Given the description of an element on the screen output the (x, y) to click on. 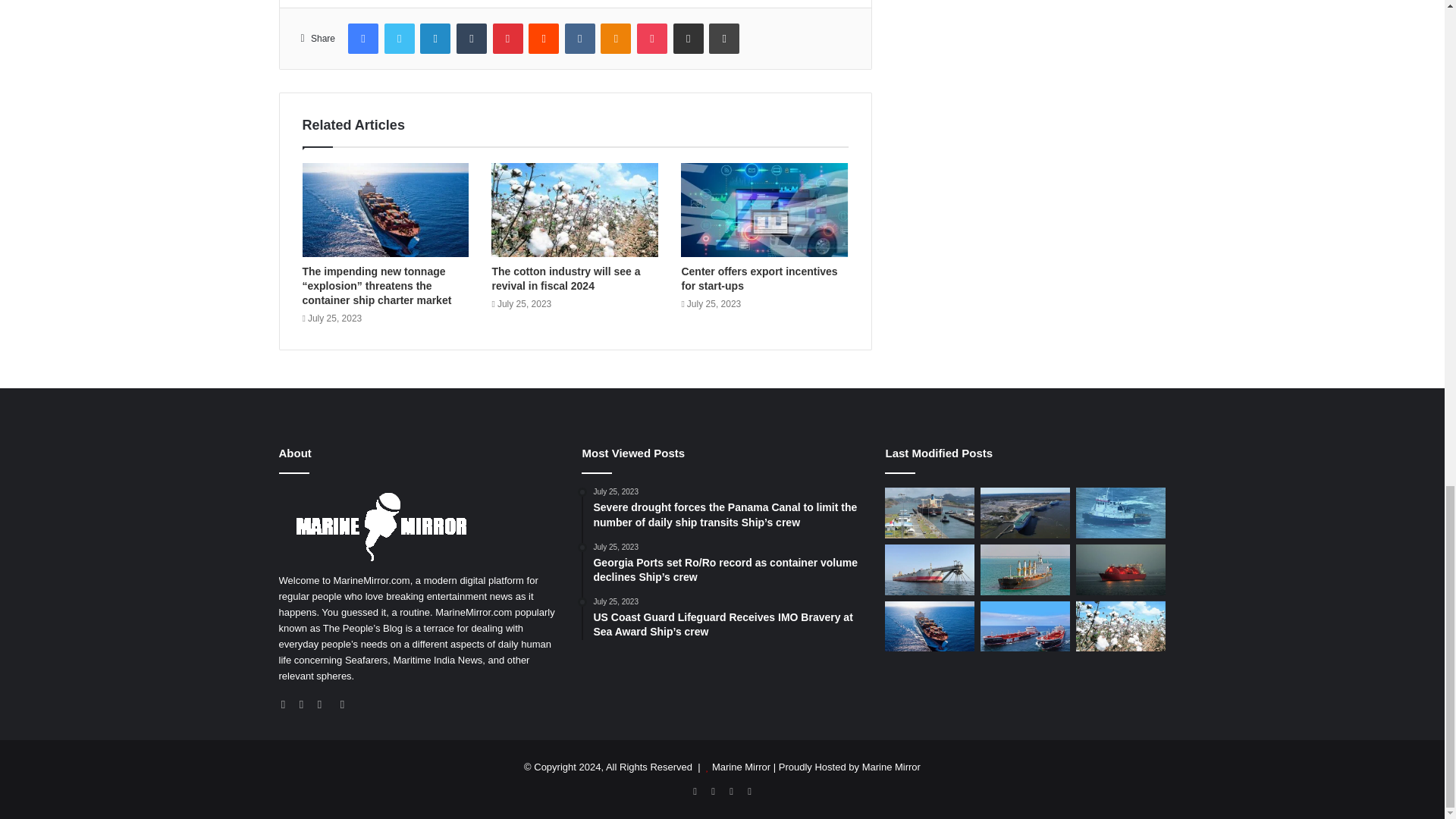
Pinterest (507, 38)
Twitter (399, 38)
Odnoklassniki (614, 38)
Tumblr (471, 38)
LinkedIn (434, 38)
Pocket (651, 38)
Facebook (362, 38)
Share via Email (687, 38)
Reddit (543, 38)
VKontakte (579, 38)
Print (724, 38)
